Given the description of an element on the screen output the (x, y) to click on. 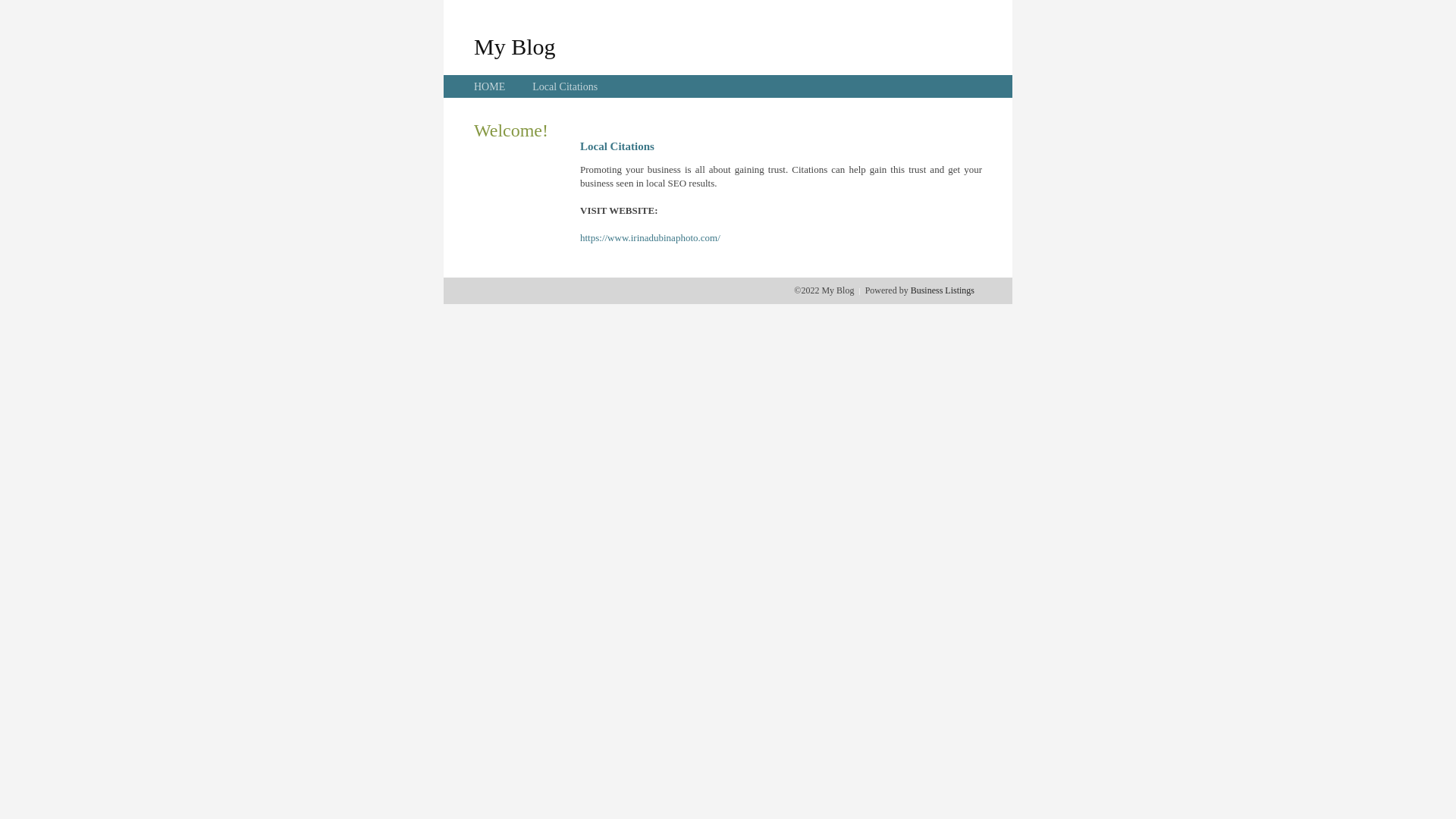
Local Citations Element type: text (564, 86)
HOME Element type: text (489, 86)
https://www.irinadubinaphoto.com/ Element type: text (650, 237)
Business Listings Element type: text (942, 290)
My Blog Element type: text (514, 46)
